Given the description of an element on the screen output the (x, y) to click on. 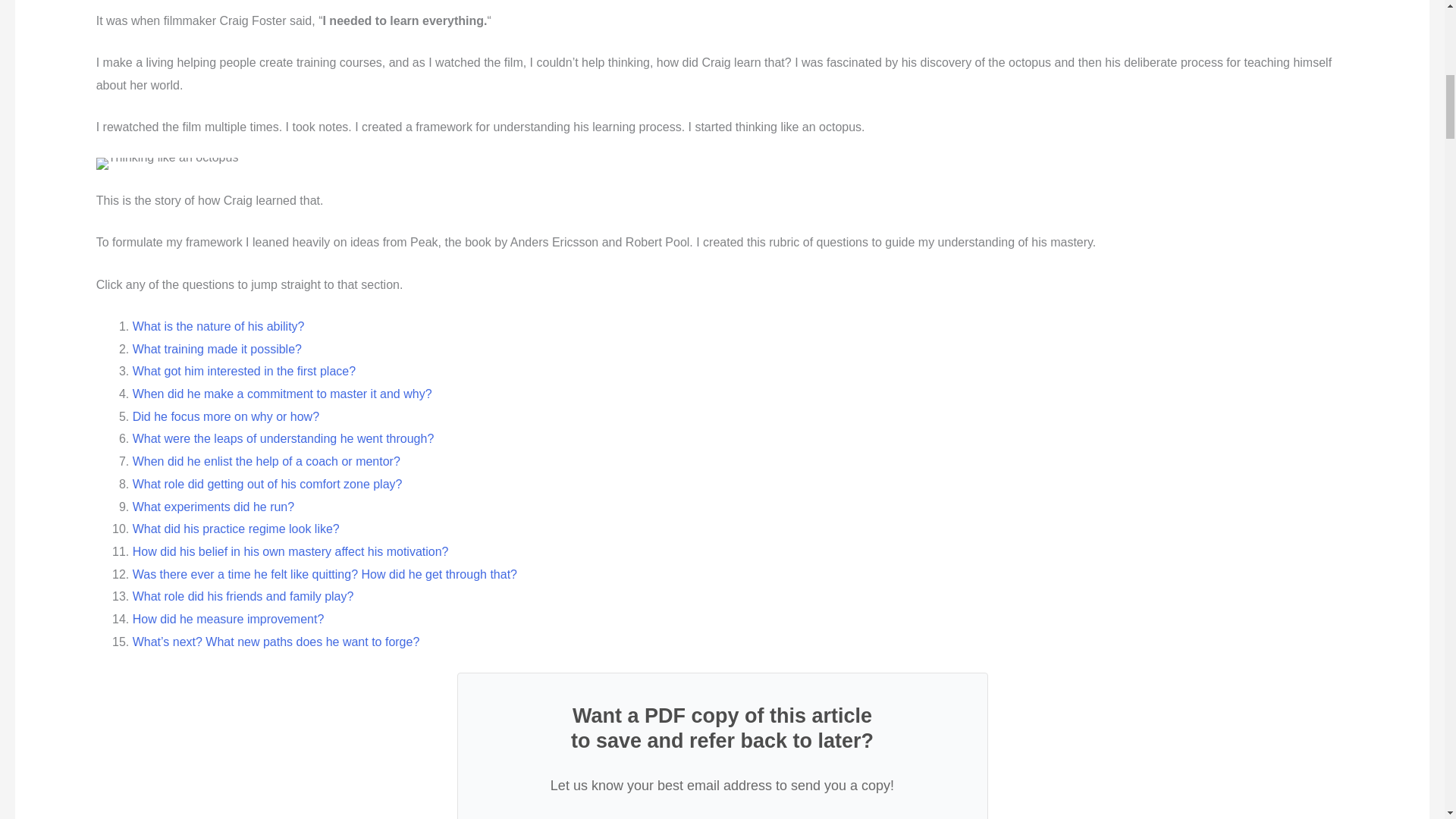
What were the leaps of understanding he went through? (282, 438)
What is the nature of his ability? (218, 326)
When did he enlist the help of a coach or mentor? (266, 461)
Did he focus more on why or how? (225, 416)
What did his practice regime look like? (235, 528)
What got him interested in the first place? (243, 370)
What training made it possible? (216, 349)
What experiments did he run? (213, 506)
What role did getting out of his comfort zone play? (267, 483)
When did he make a commitment to master it and why? (282, 393)
